Given the description of an element on the screen output the (x, y) to click on. 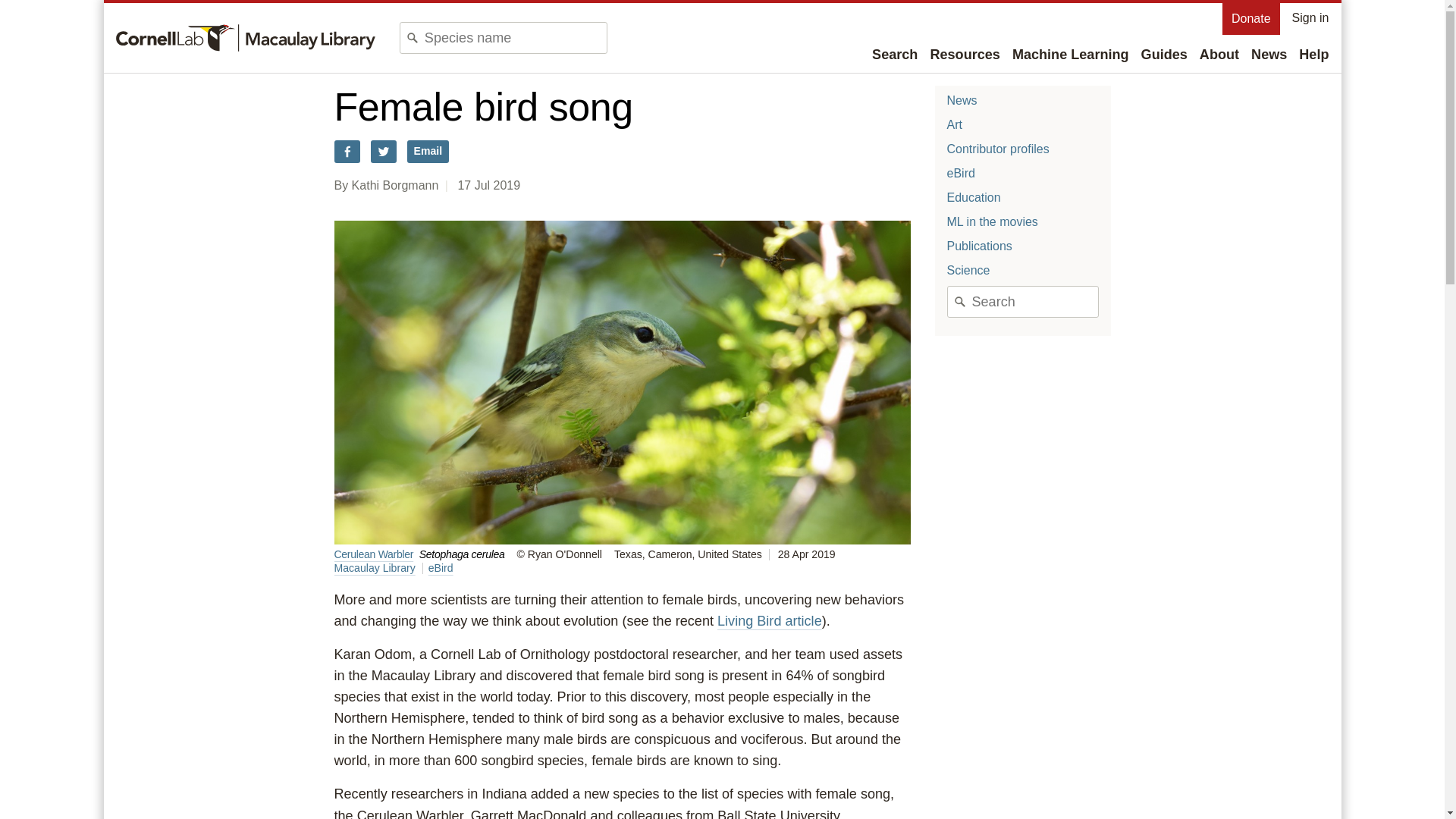
Cerulean Warbler (373, 553)
News (961, 100)
Science (968, 269)
ML in the movies (991, 221)
Help (1312, 55)
Living Bird article (769, 620)
eBird (960, 173)
eBird (440, 567)
Education (973, 196)
News (1268, 55)
Email (428, 151)
Search (894, 55)
Art (953, 124)
Publications (978, 245)
Machine Learning (1070, 55)
